Given the description of an element on the screen output the (x, y) to click on. 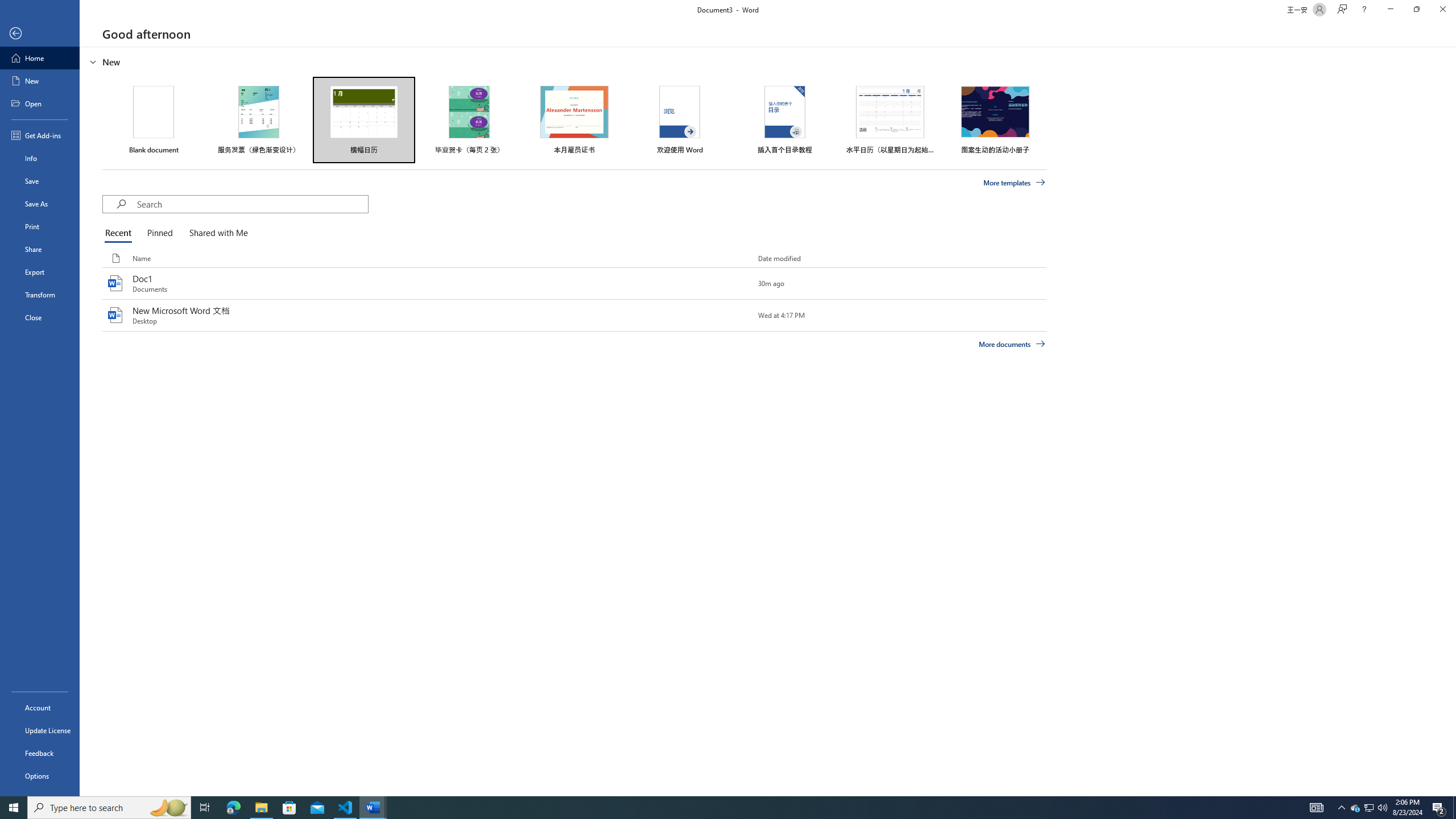
Save (40, 180)
Class: NetUIScrollBar (1450, 421)
Feedback (40, 753)
Get Add-ins (40, 134)
Save As (40, 203)
Home (40, 57)
Shared with Me (215, 233)
More documents (1011, 343)
